Given the description of an element on the screen output the (x, y) to click on. 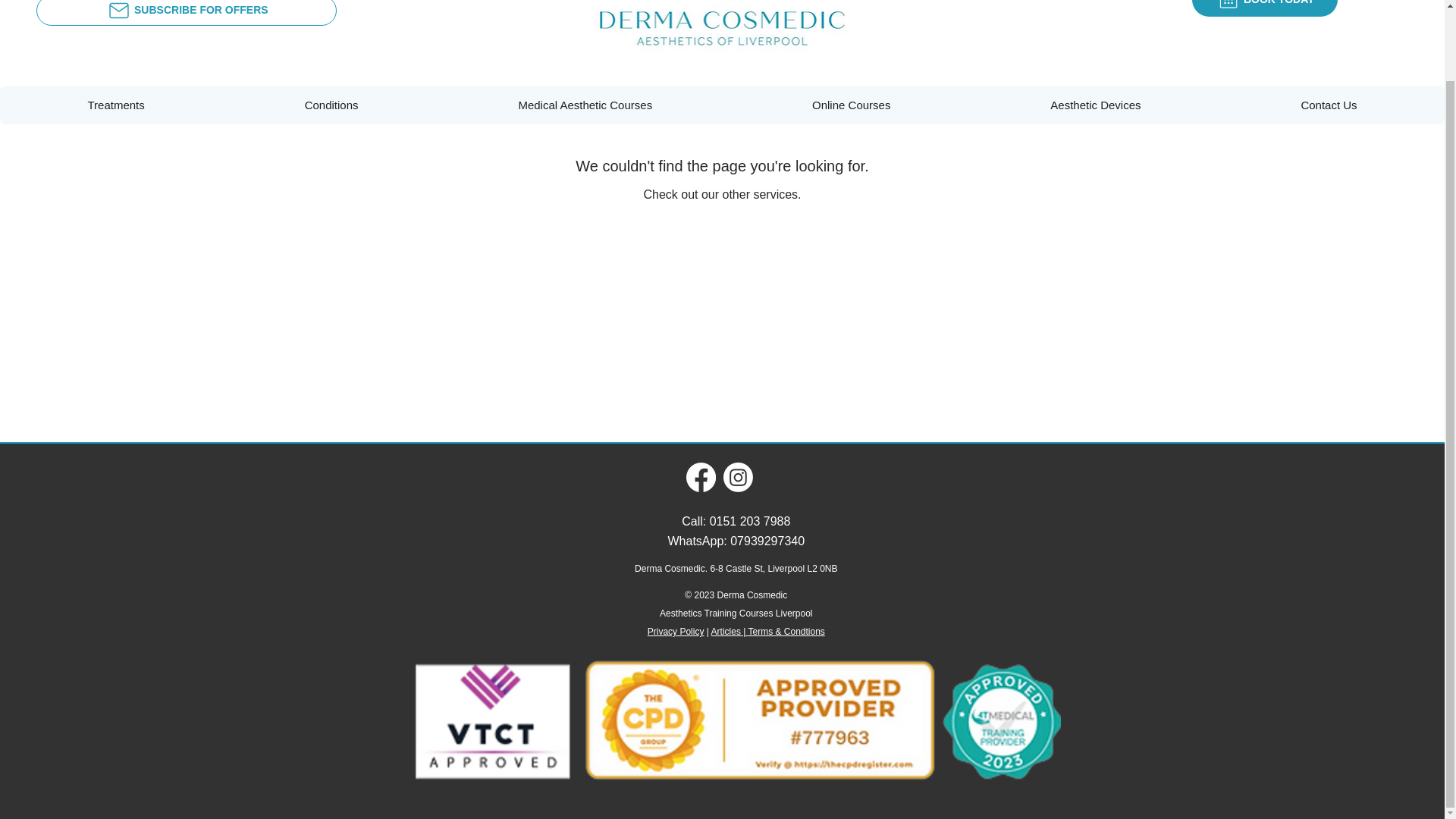
Aesthetic Devices (1096, 105)
Conditions (331, 105)
Online Courses (851, 105)
Medical Aesthetic Courses (585, 105)
